Given the description of an element on the screen output the (x, y) to click on. 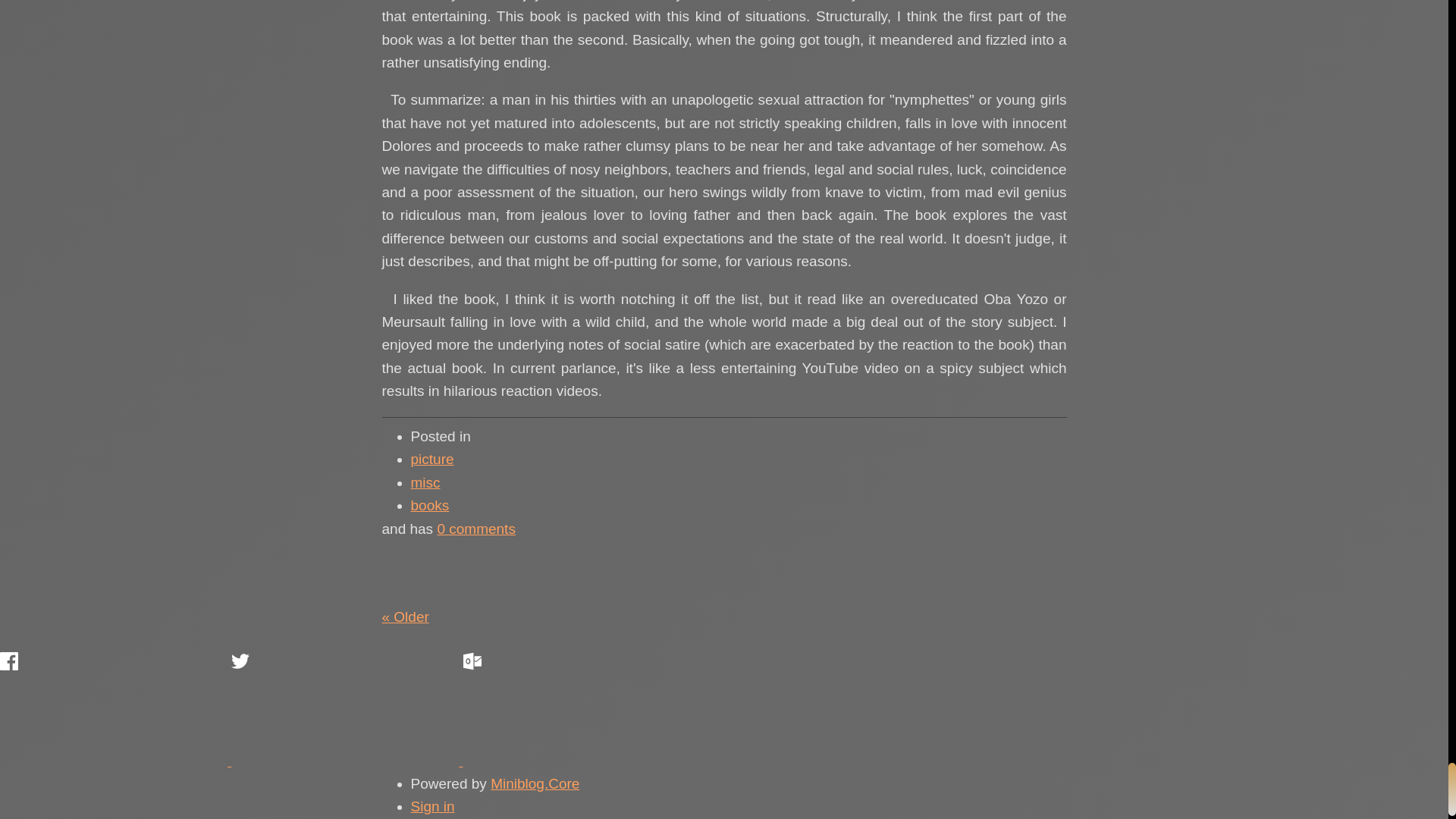
Share on Twitter (344, 708)
Share on Facebook (113, 708)
Email (576, 708)
